Given the description of an element on the screen output the (x, y) to click on. 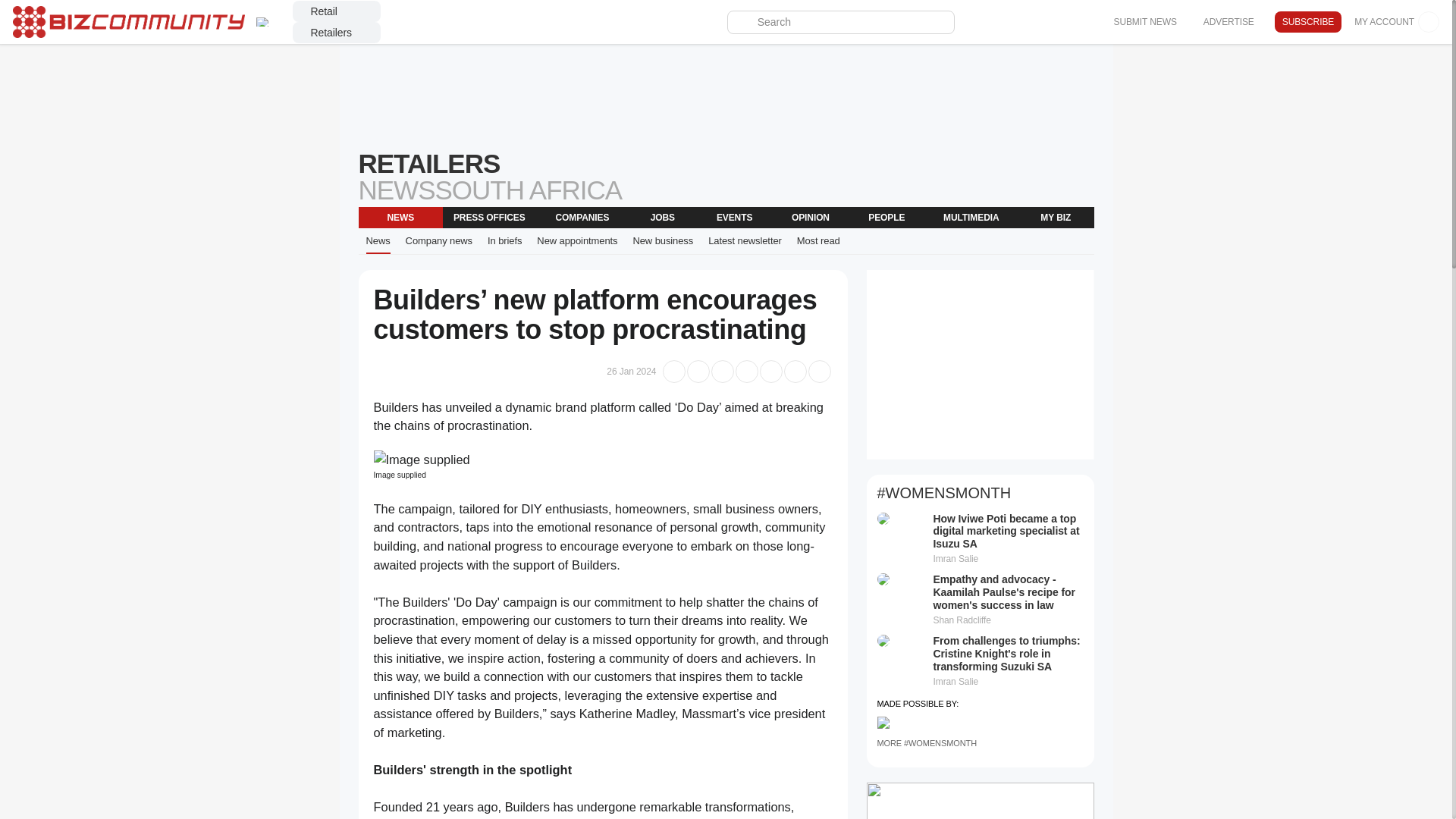
Bizcommunity facebook (1018, 22)
ADVERTISE (1228, 21)
Bizcommunity instagram (1040, 22)
Bizcommunity facebook (1084, 22)
Retail (336, 11)
MY ACCOUNT (1396, 21)
Bizcommunity linked (975, 22)
Retailers (336, 32)
Bizcommunity youtube (1062, 22)
SUBSCRIBE (1307, 21)
